Given the description of an element on the screen output the (x, y) to click on. 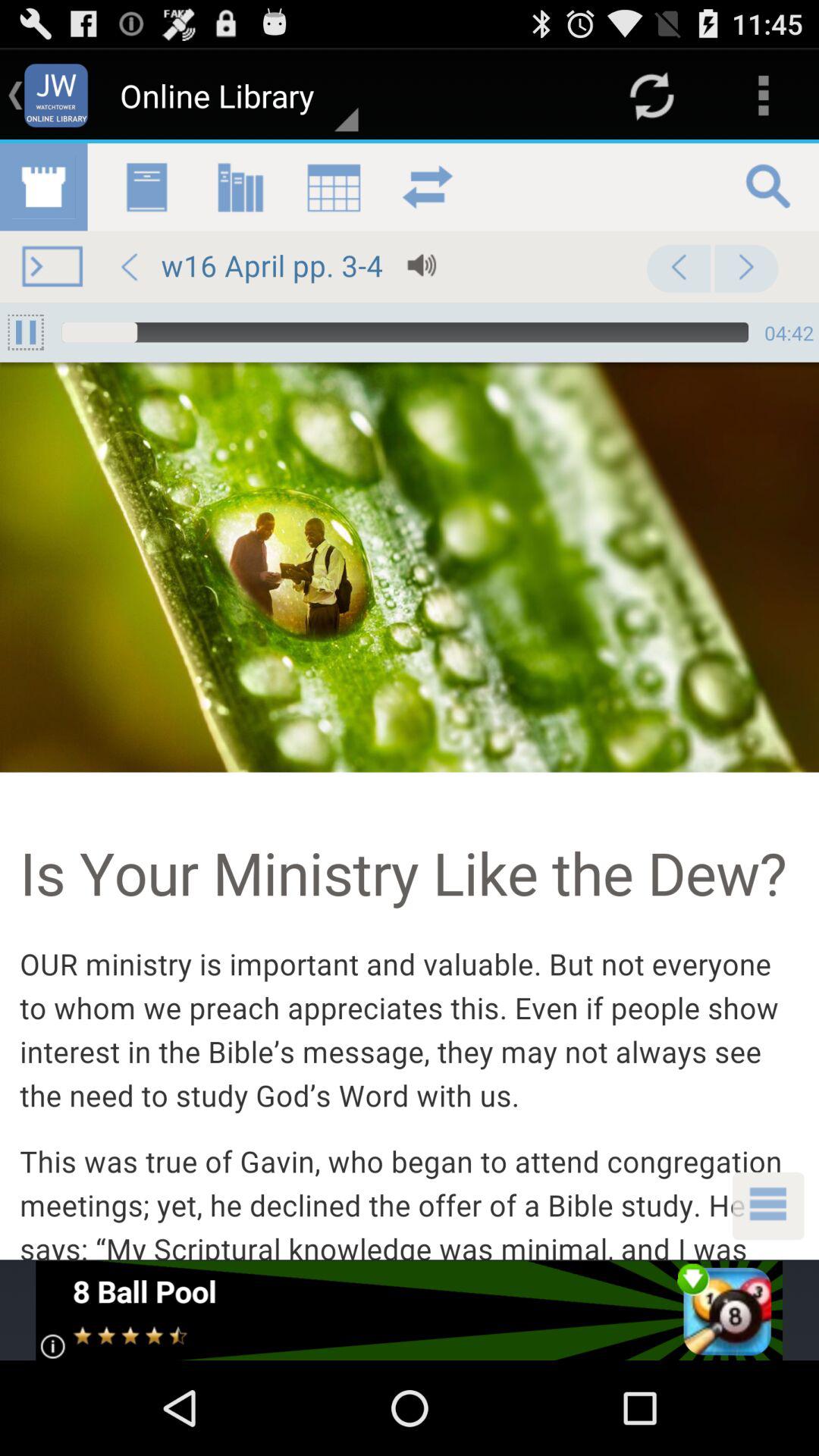
download 8 ball pool (408, 1310)
